Given the description of an element on the screen output the (x, y) to click on. 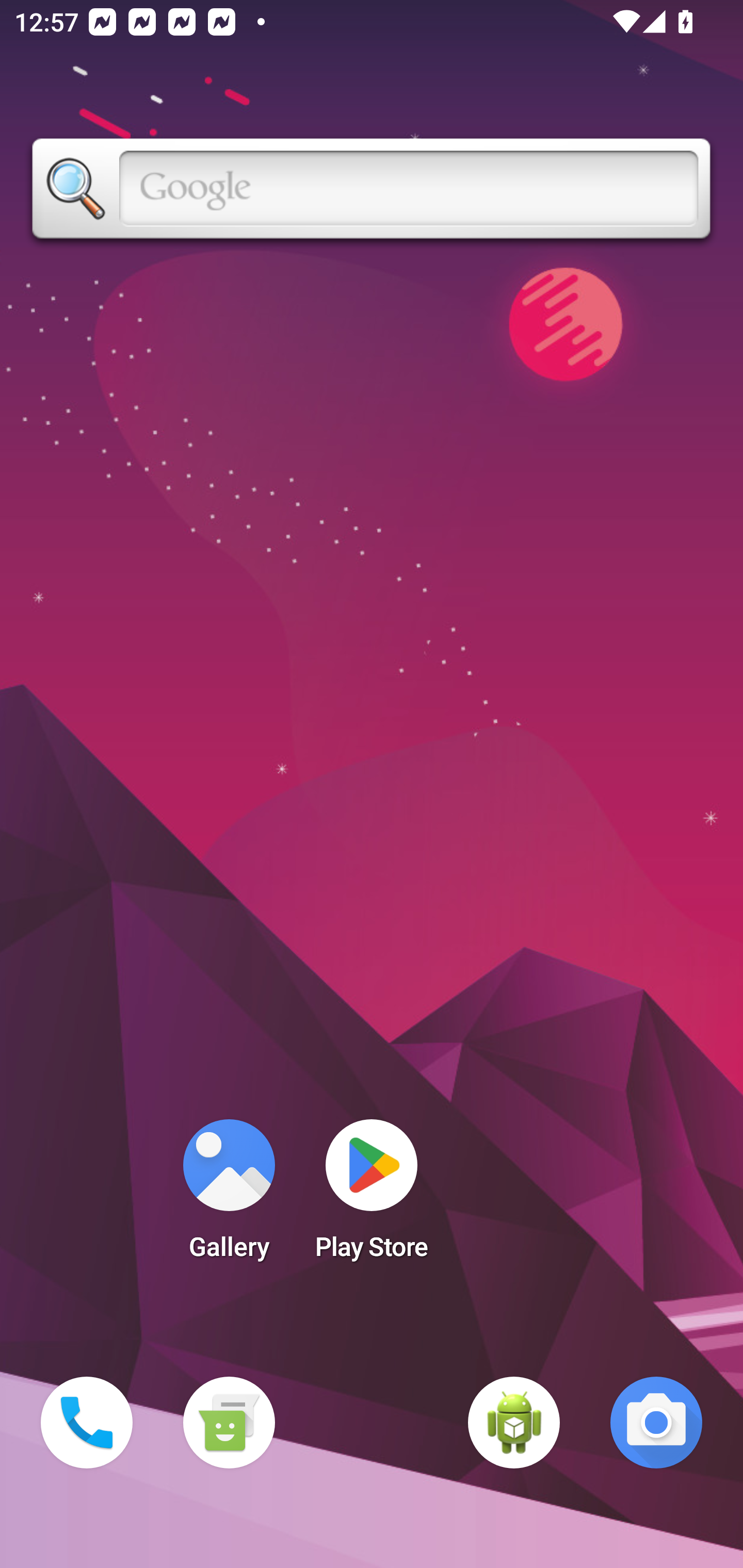
Gallery (228, 1195)
Play Store (371, 1195)
Phone (86, 1422)
Messaging (228, 1422)
WebView Browser Tester (513, 1422)
Camera (656, 1422)
